Given the description of an element on the screen output the (x, y) to click on. 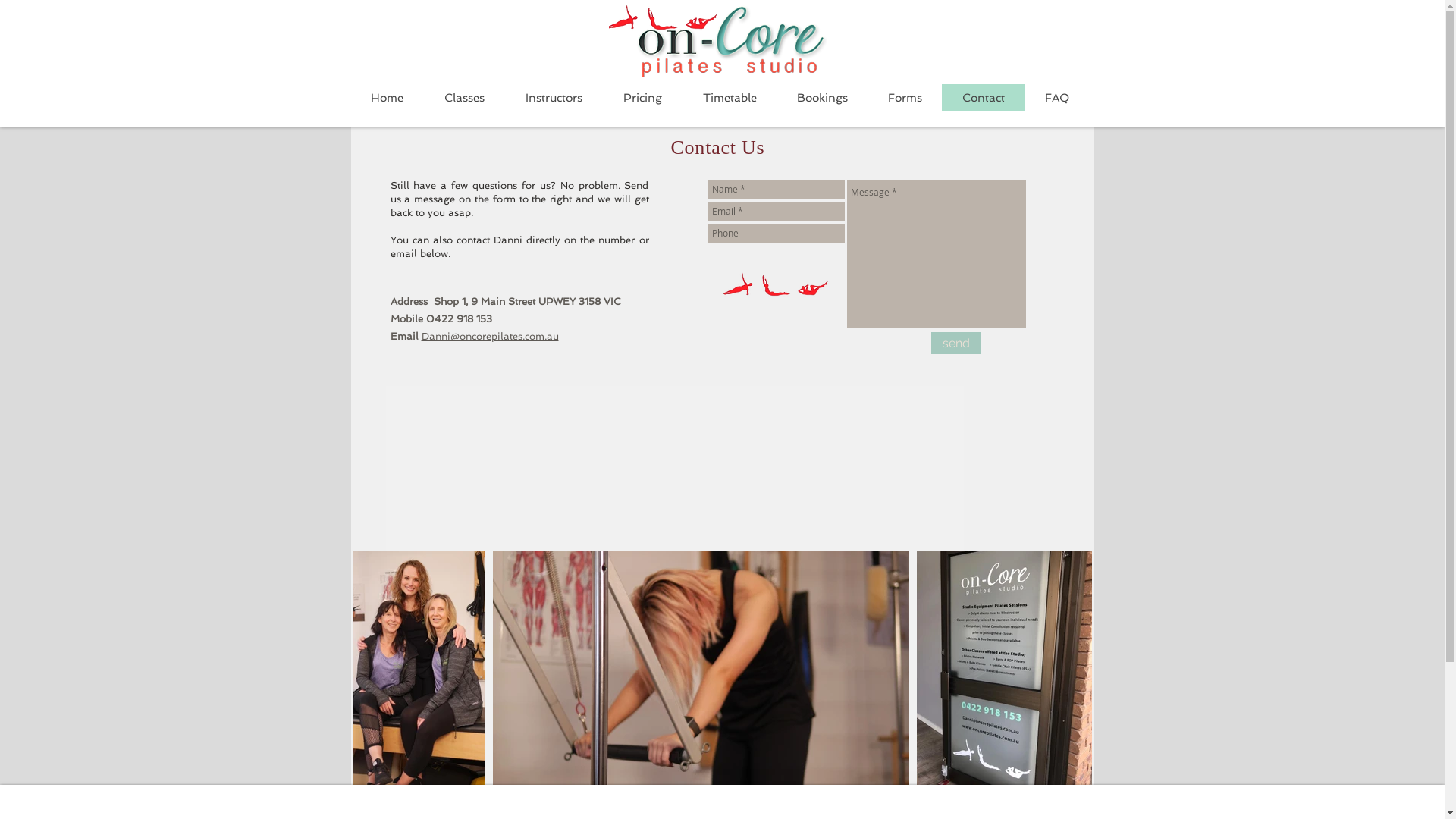
Forms Element type: text (904, 97)
send Element type: text (956, 343)
Timetable Element type: text (729, 97)
Danni@oncorepilates.com.au Element type: text (489, 336)
Classes Element type: text (463, 97)
Contact Element type: text (982, 97)
Bookings Element type: text (821, 97)
FAQ Element type: text (1055, 97)
Pricing Element type: text (641, 97)
Home Element type: text (386, 97)
Instructors Element type: text (553, 97)
